Given the description of an element on the screen output the (x, y) to click on. 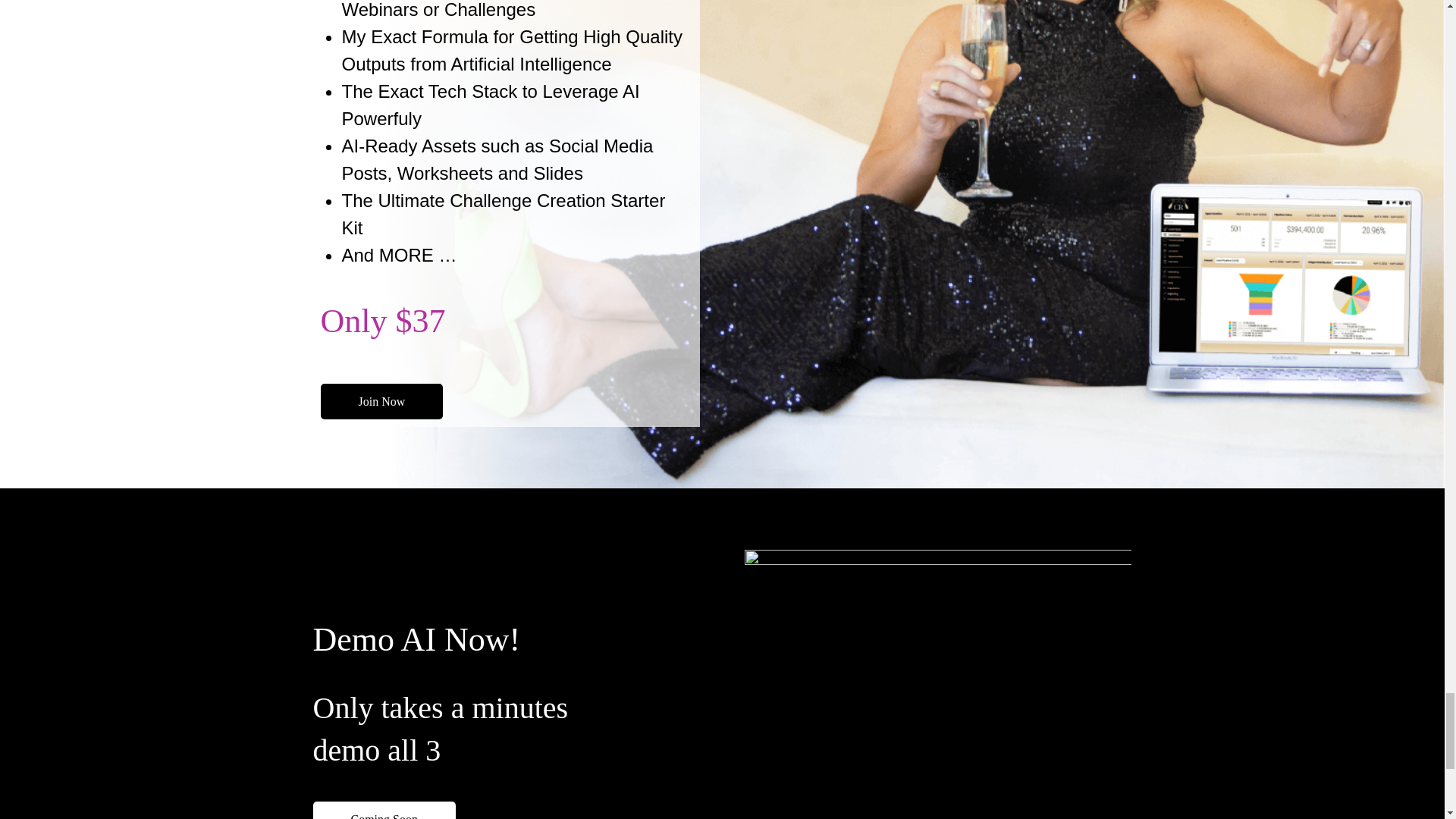
Coming Soon (383, 810)
Join Now (381, 401)
